Given the description of an element on the screen output the (x, y) to click on. 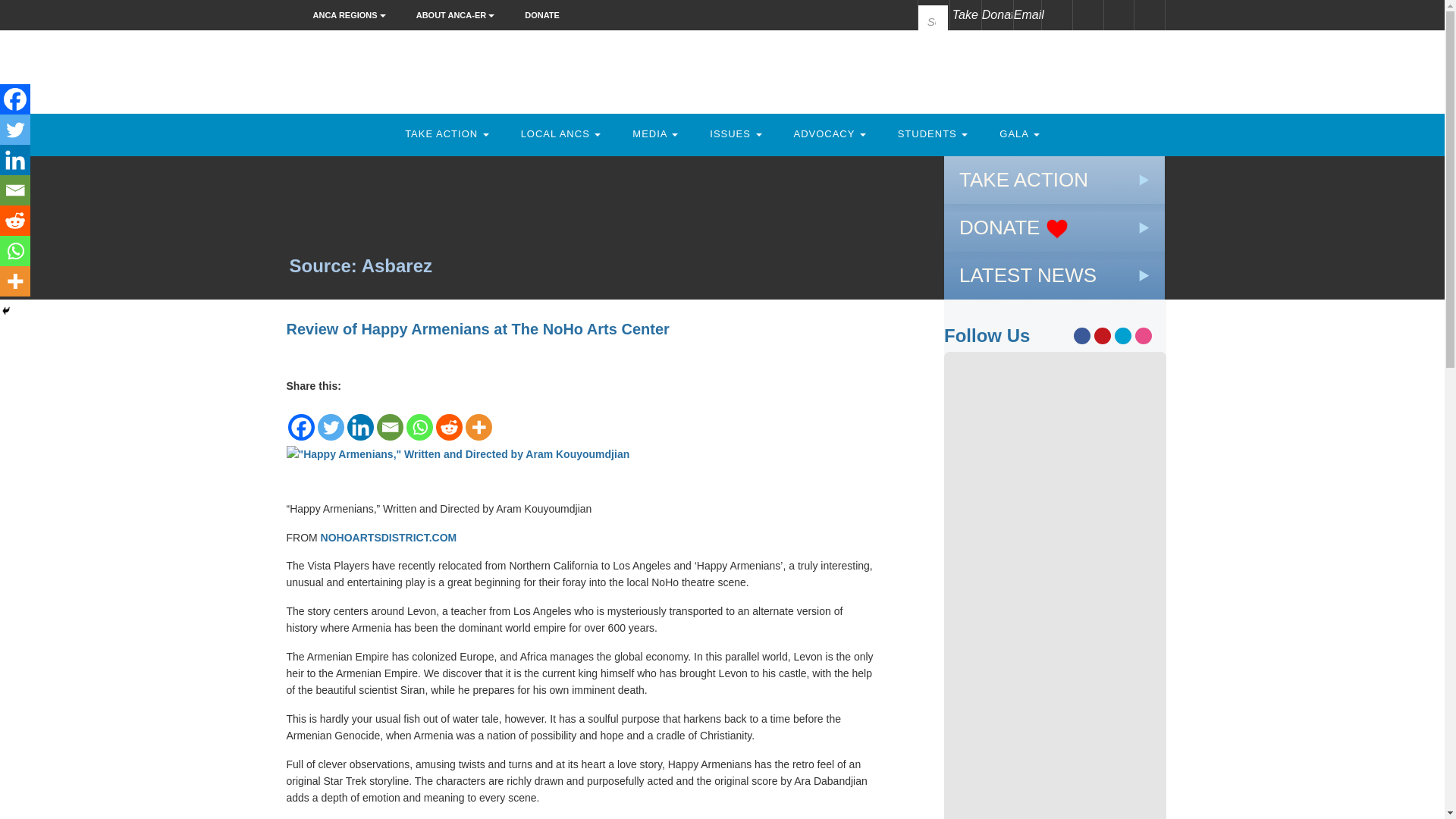
MEDIA (655, 134)
ABOUT ANCA-ER (458, 15)
ANCA REGIONS (352, 15)
Email (1028, 15)
Take action (964, 15)
LOCAL ANCS (560, 134)
ANCA Regions (352, 15)
Local ANCs (560, 134)
ISSUES (735, 134)
About ANCA-ER (458, 15)
TAKE ACTION (446, 134)
Donate (541, 15)
DONATE (541, 15)
Donate (996, 15)
Take Action (446, 134)
